Given the description of an element on the screen output the (x, y) to click on. 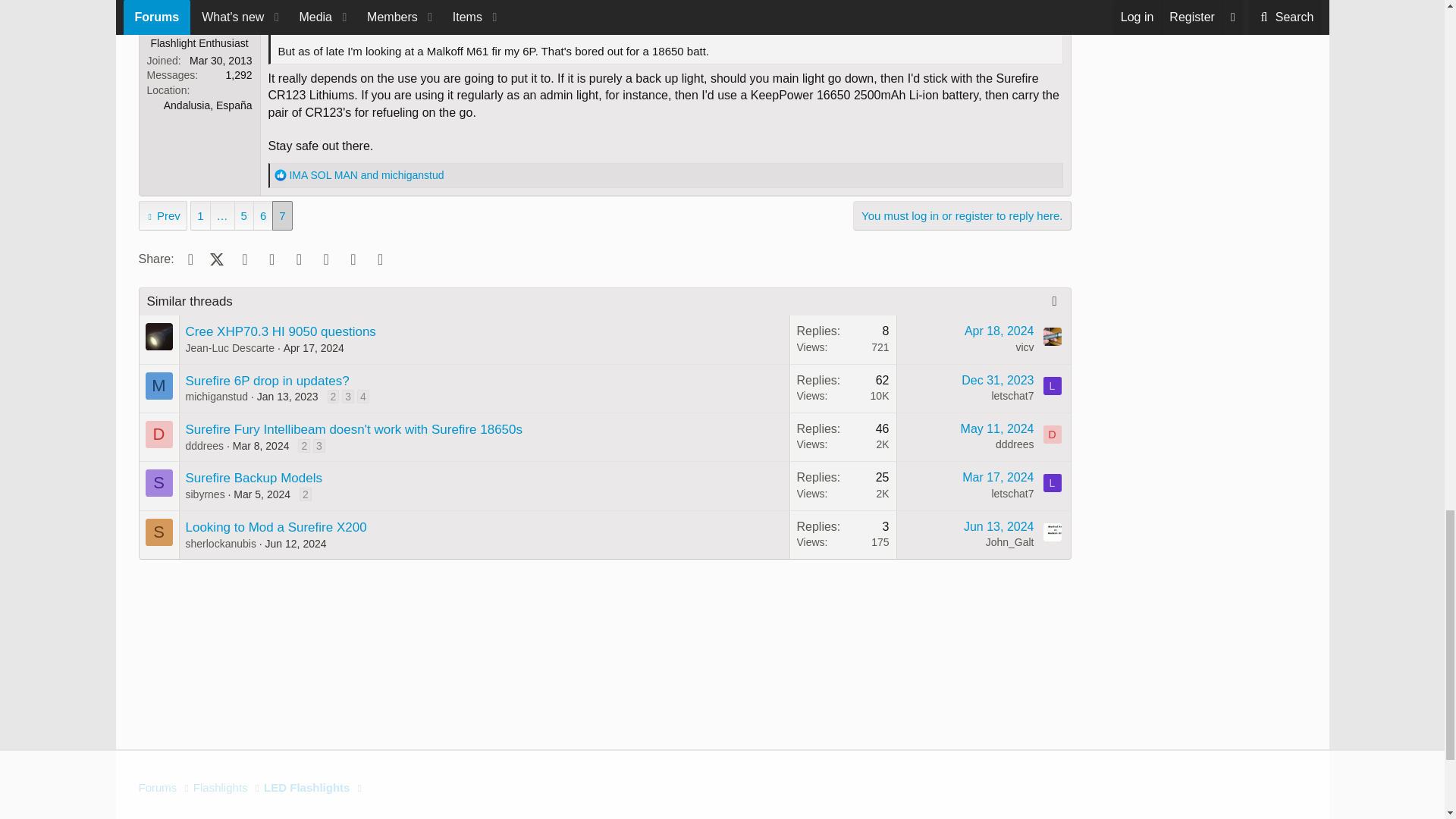
Like (280, 174)
